Given the description of an element on the screen output the (x, y) to click on. 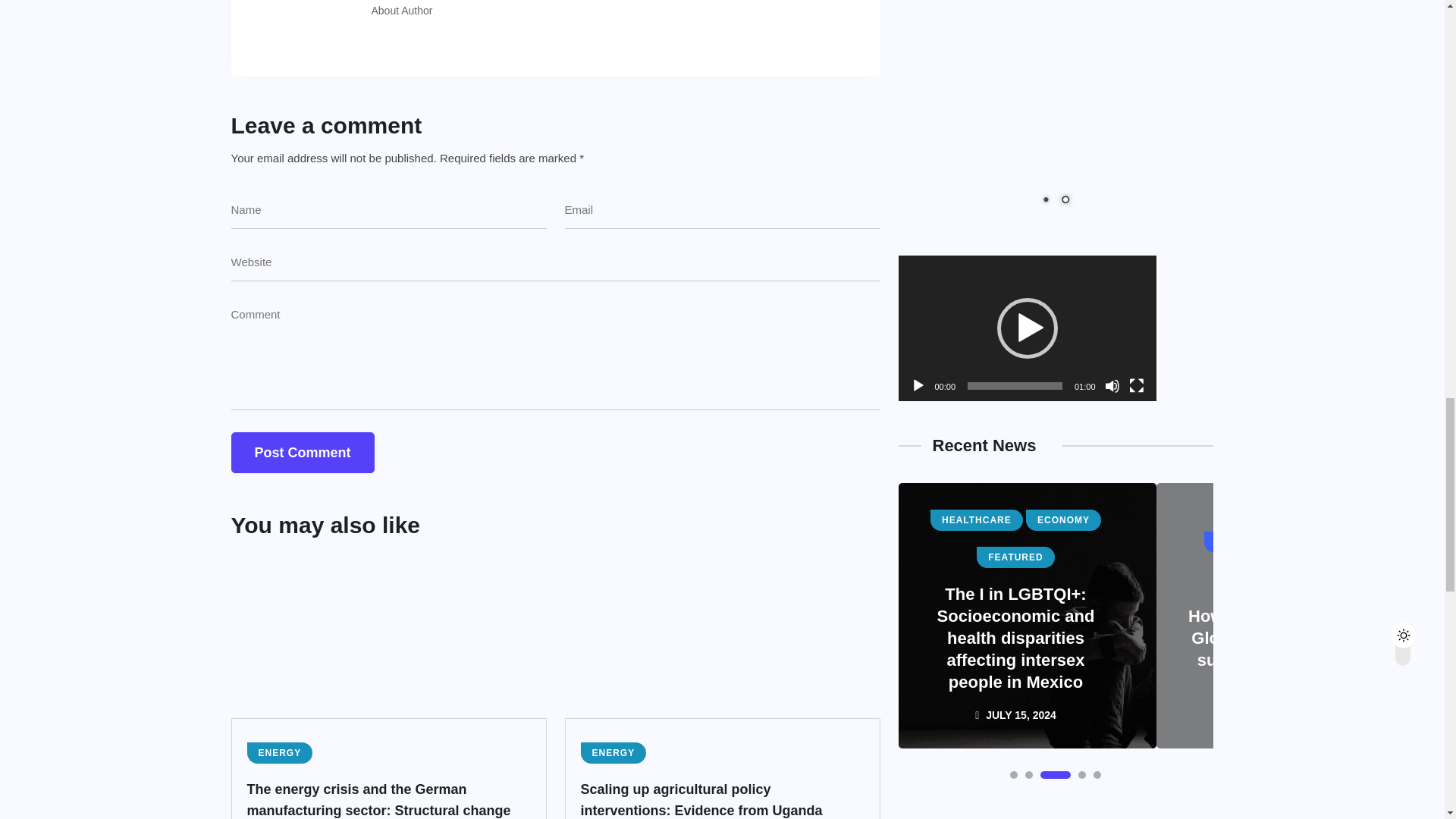
Post Comment (302, 452)
